Given the description of an element on the screen output the (x, y) to click on. 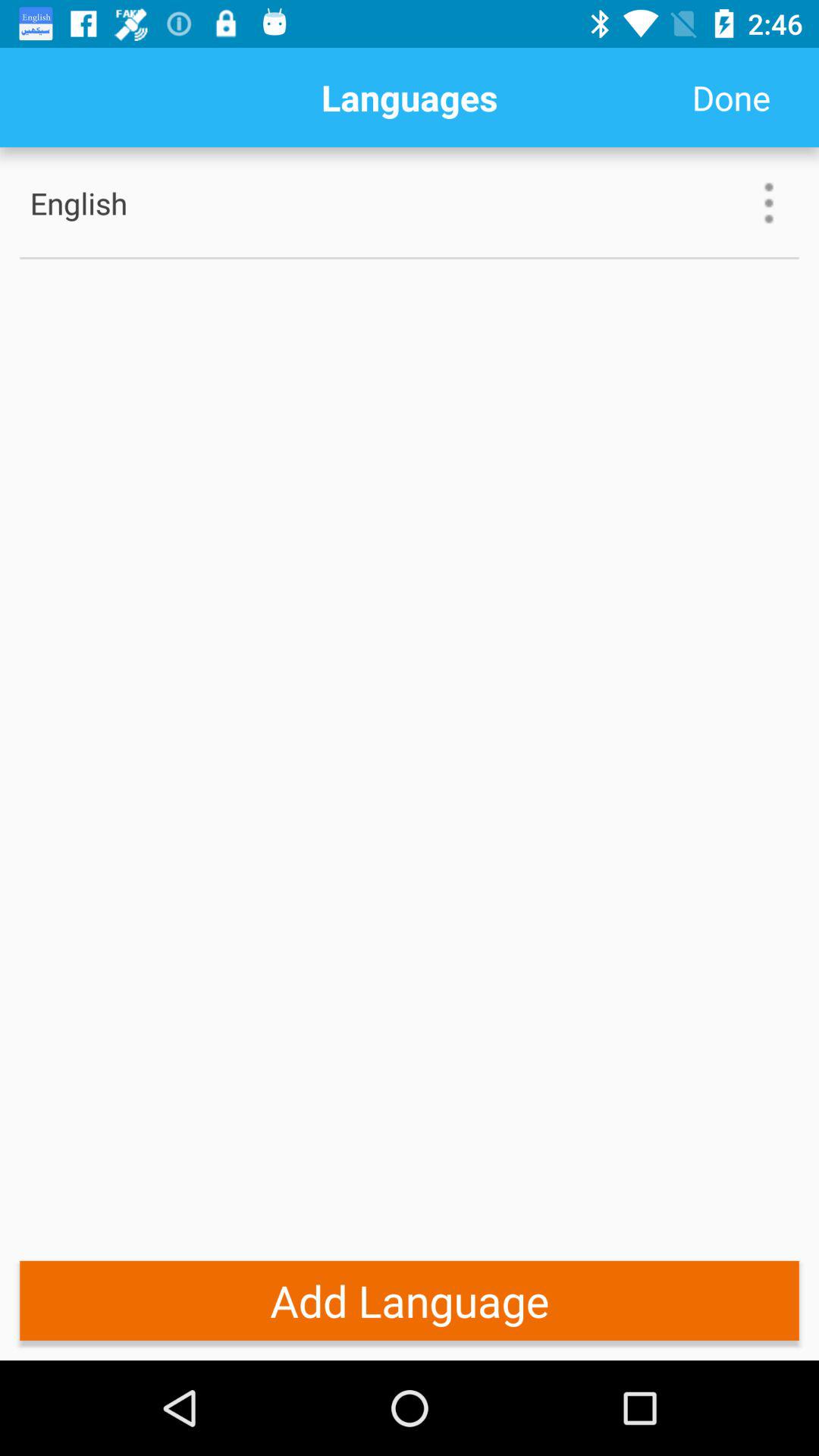
swipe until the english item (128, 203)
